Given the description of an element on the screen output the (x, y) to click on. 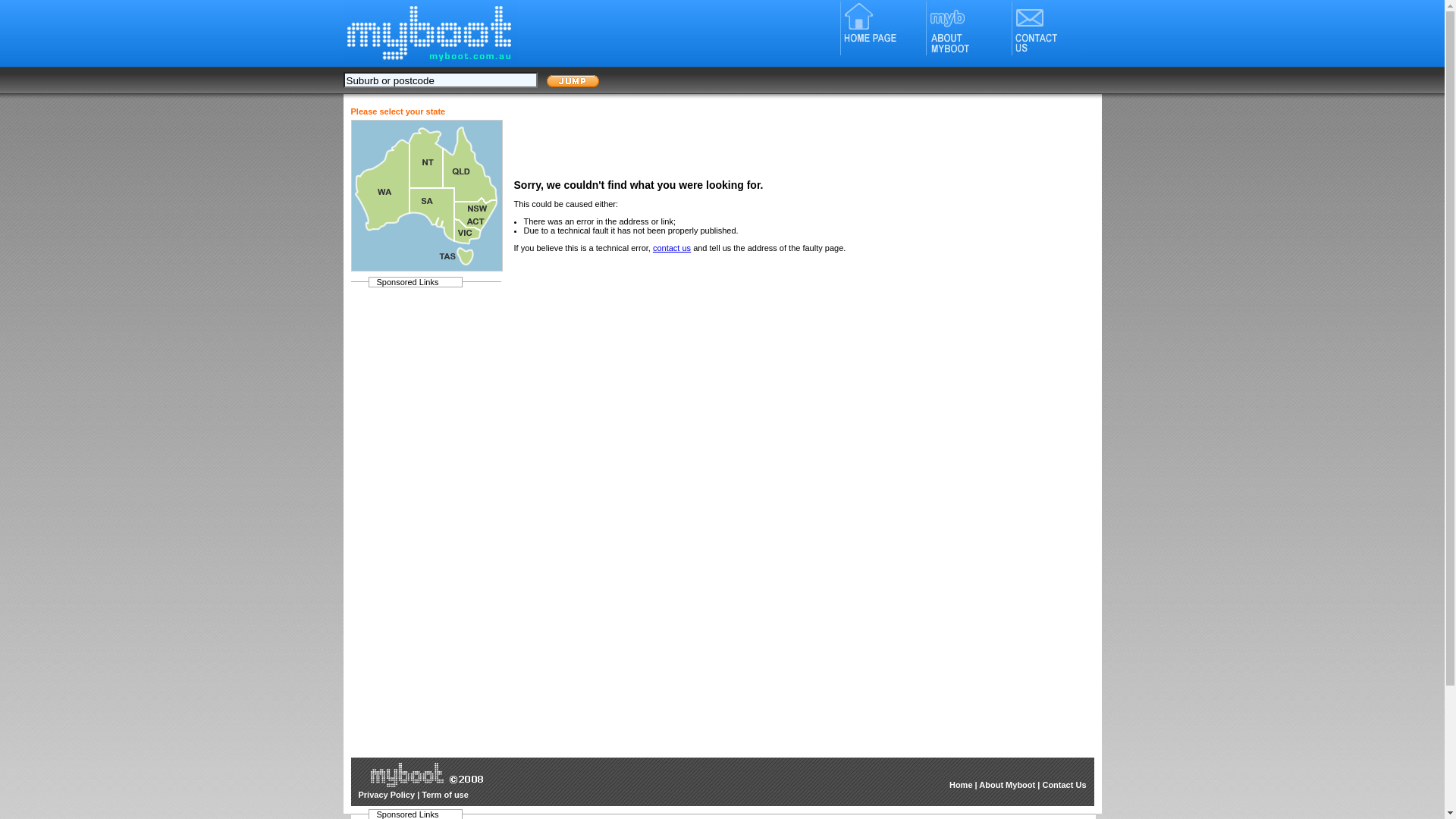
Home Element type: text (960, 784)
Advertisement Element type: hover (790, 294)
Advertisement Element type: hover (419, 521)
Contact Us Element type: text (1063, 784)
Term of use Element type: text (444, 794)
Privacy Policy Element type: text (385, 794)
contact us Element type: text (671, 247)
About Myboot Element type: text (1007, 784)
